Given the description of an element on the screen output the (x, y) to click on. 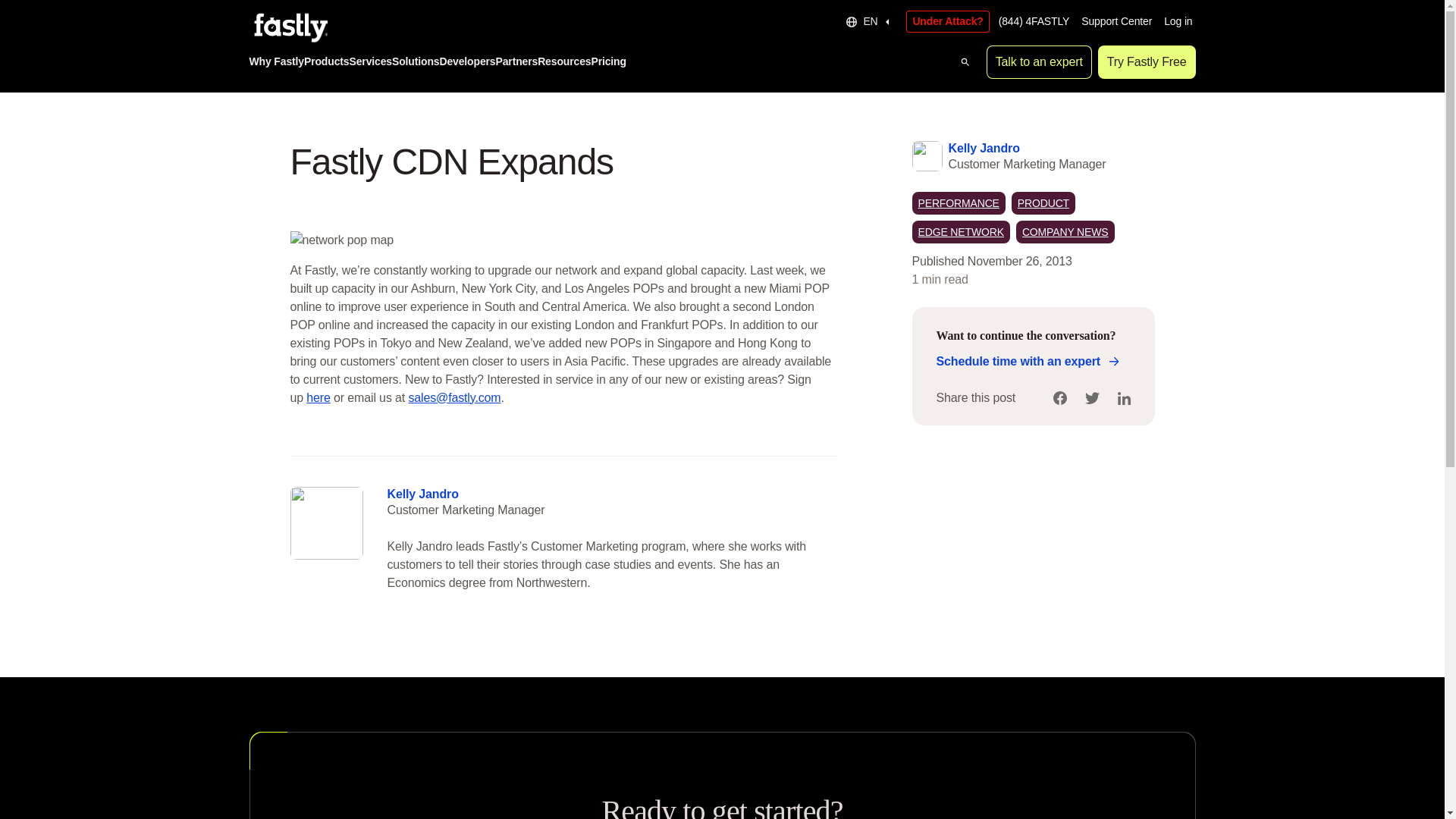
Log in (1177, 21)
Schedule time with an expert (1025, 361)
Talk to an expert (1039, 61)
EN (869, 22)
Try Fastly Free (1146, 61)
PERFORMANCE (957, 202)
EDGE NETWORK (960, 231)
COMPANY NEWS (1065, 231)
PRODUCT (1043, 202)
here (317, 397)
Under Attack? (946, 21)
Support Center (1116, 21)
Kelly Jandro (983, 146)
Kelly Jandro (422, 493)
Developers (467, 61)
